Given the description of an element on the screen output the (x, y) to click on. 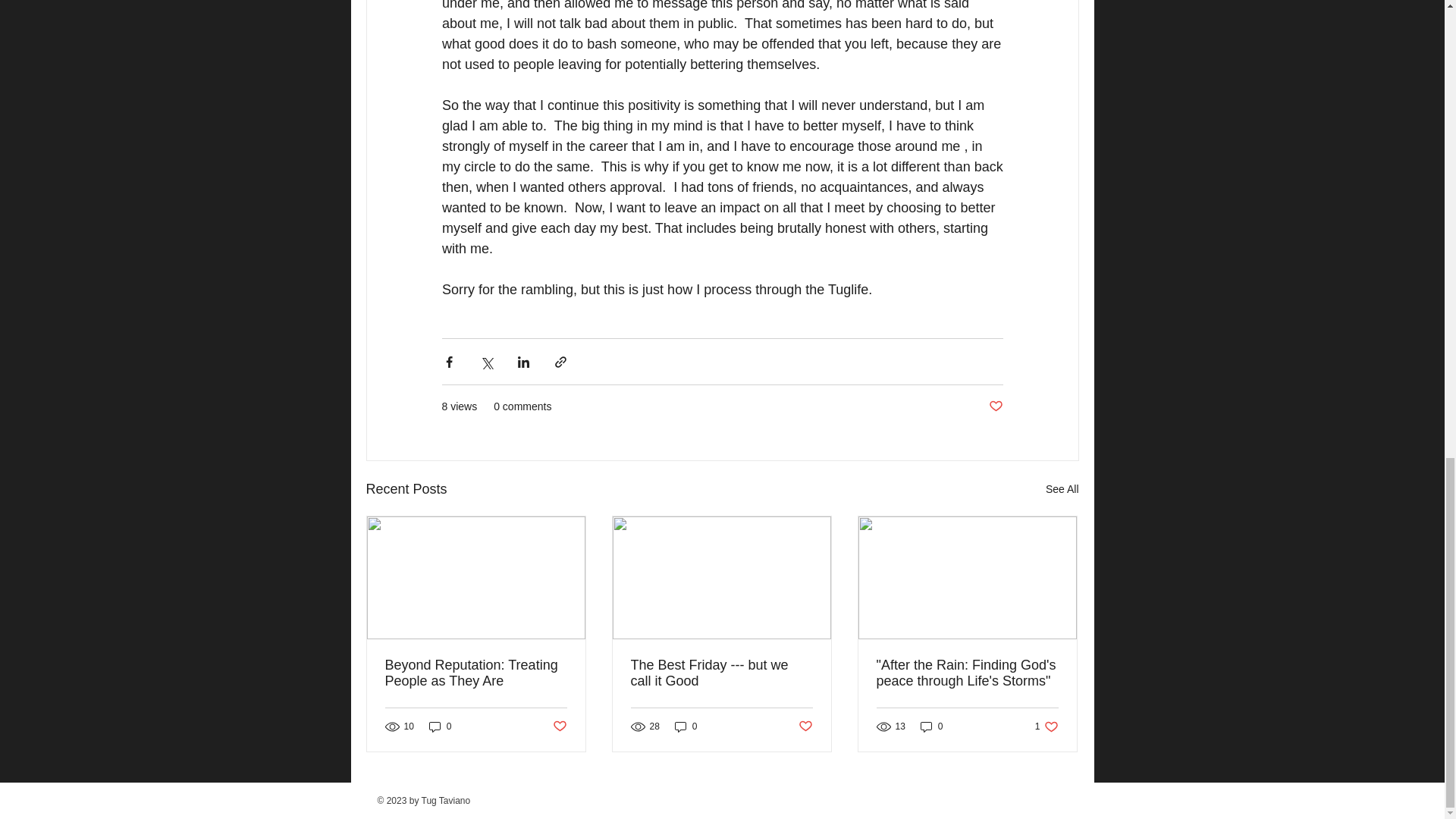
The Best Friday --- but we call it Good (721, 673)
0 (931, 726)
0 (440, 726)
See All (1061, 489)
"After the Rain: Finding God's peace through Life's Storms" (1046, 726)
0 (967, 673)
Post not marked as liked (685, 726)
Beyond Reputation: Treating People as They Are (995, 406)
Post not marked as liked (476, 673)
